Given the description of an element on the screen output the (x, y) to click on. 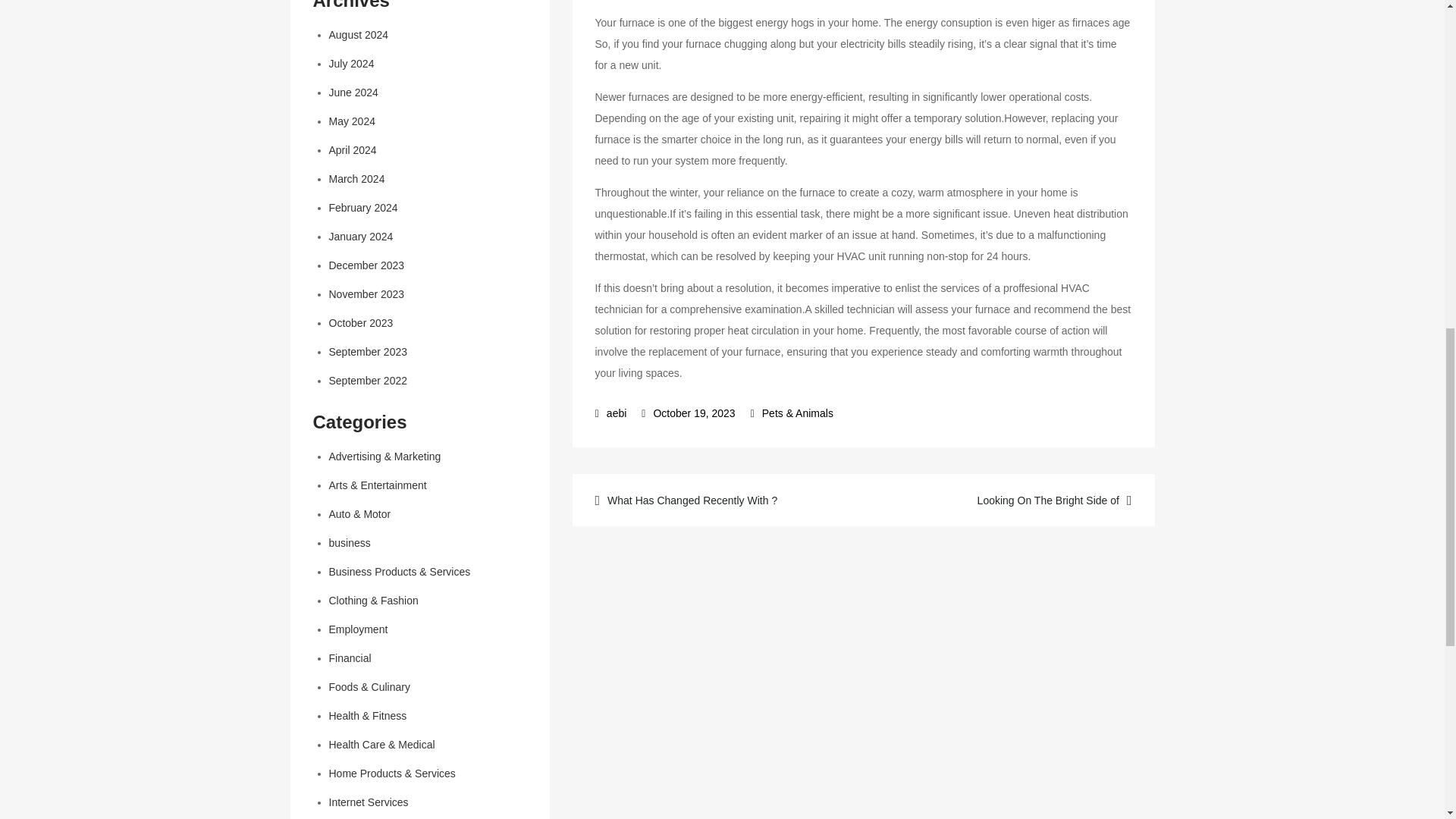
June 2024 (353, 92)
July 2024 (351, 63)
May 2024 (352, 121)
Looking On The Bright Side of (1007, 499)
March 2024 (357, 178)
What Has Changed Recently With ? (719, 499)
October 19, 2023 (688, 413)
September 2023 (368, 351)
February 2024 (363, 207)
Employment (358, 629)
